Given the description of an element on the screen output the (x, y) to click on. 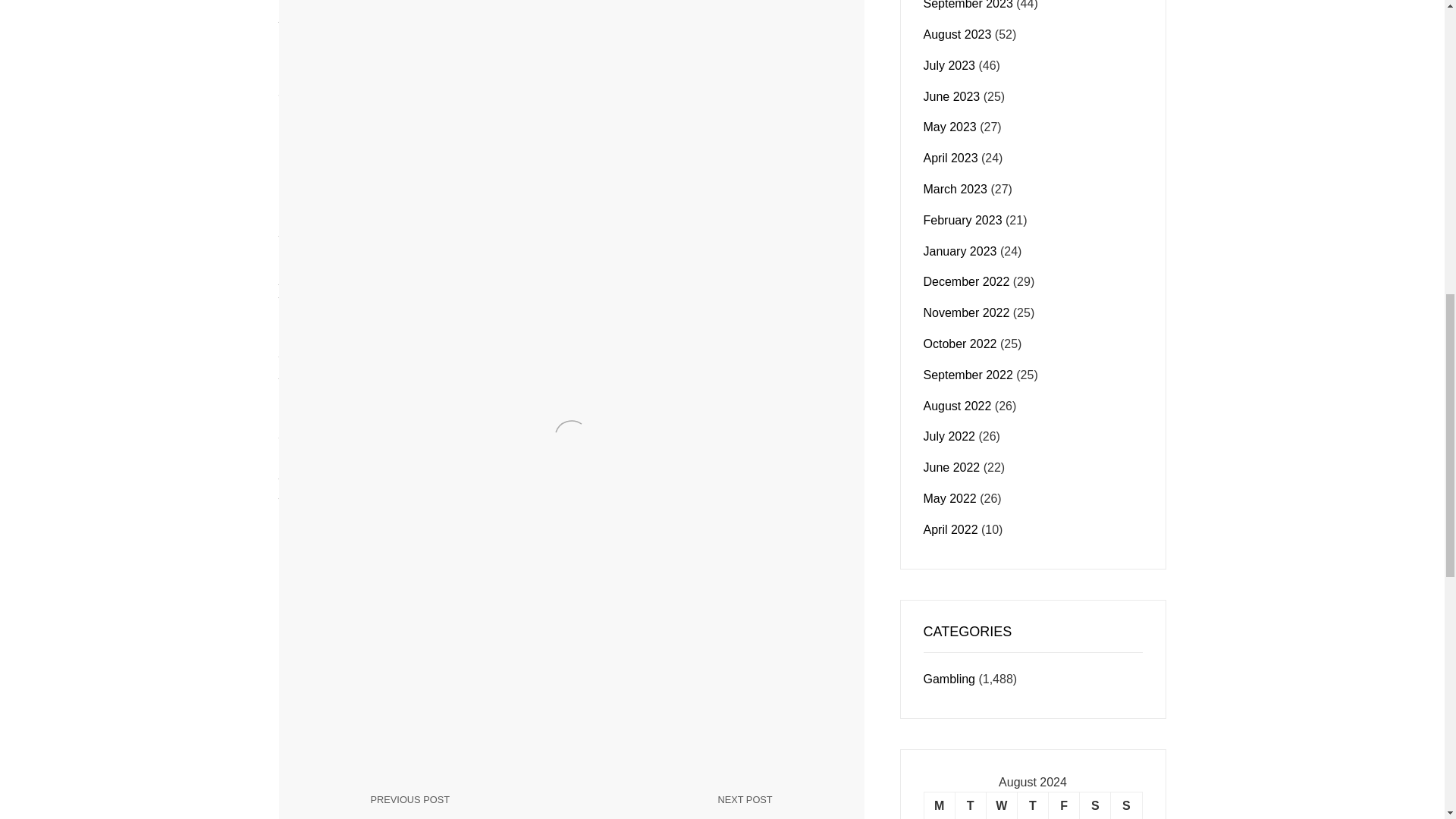
May 2023 (949, 126)
Thursday (1032, 805)
Sunday (680, 806)
Wednesday (1125, 805)
Monday (1000, 805)
Tuesday (939, 805)
August 2023 (970, 805)
April 2023 (957, 33)
Saturday (950, 157)
July 2023 (1095, 805)
Friday (949, 65)
September 2023 (462, 806)
June 2023 (1064, 805)
